Given the description of an element on the screen output the (x, y) to click on. 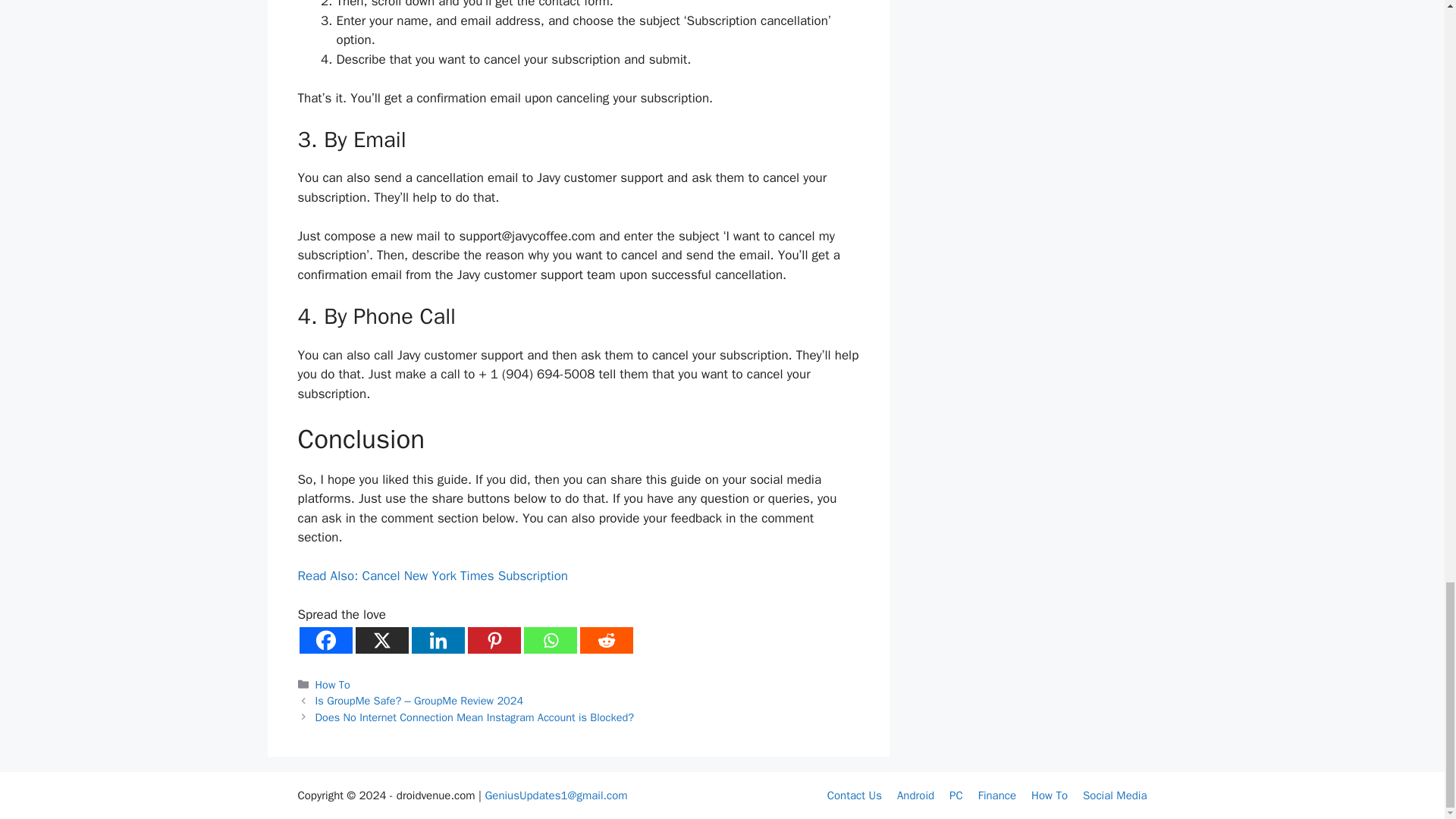
Pinterest (493, 640)
PC (955, 795)
Android (915, 795)
Whatsapp (549, 640)
Linkedin (437, 640)
X (381, 640)
How To (1048, 795)
Finance (997, 795)
Contact Us (854, 795)
Facebook (325, 640)
Read Also: Cancel New York Times Subscription (432, 575)
How To (332, 684)
